Given the description of an element on the screen output the (x, y) to click on. 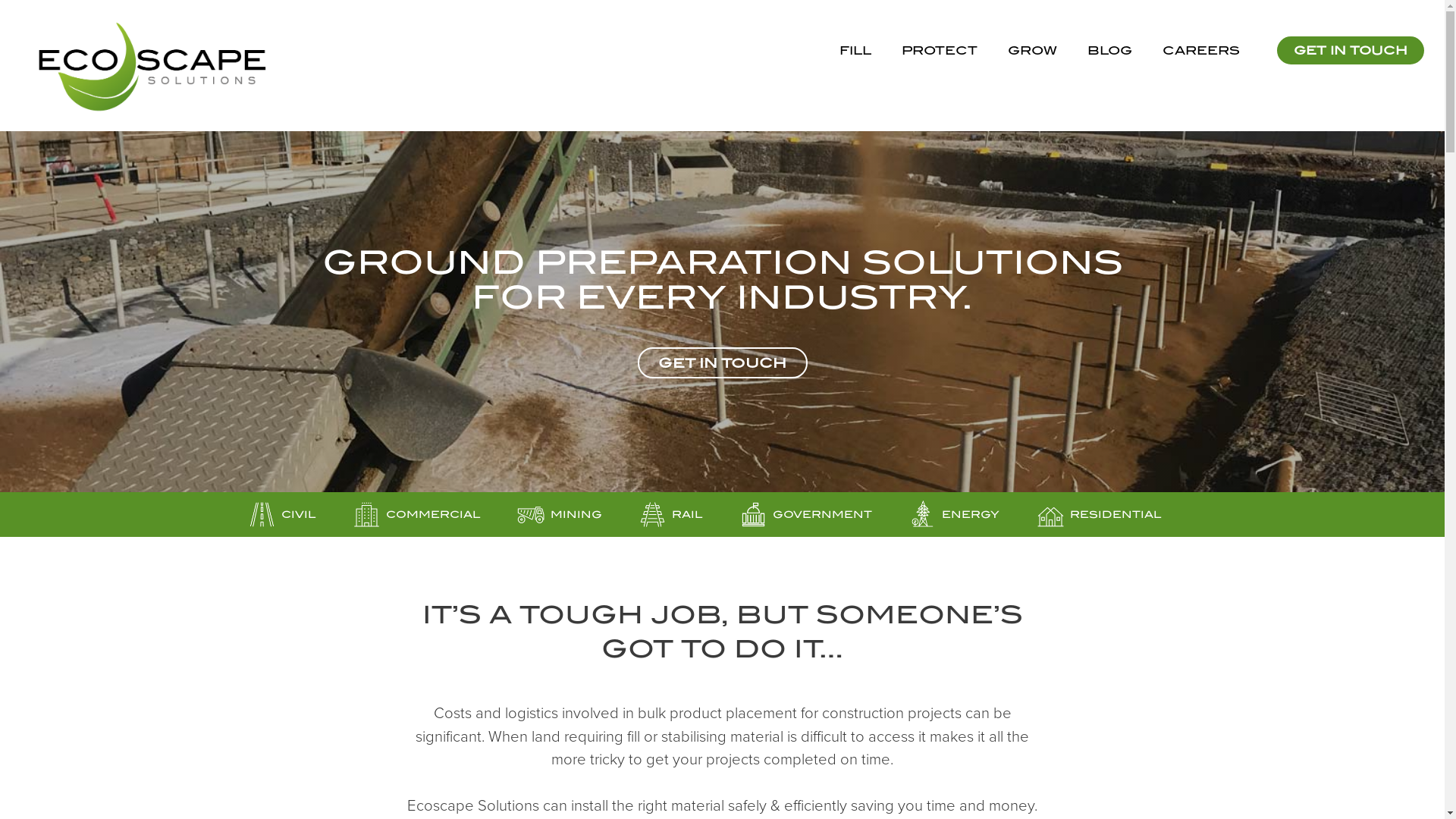
FILL Element type: text (855, 50)
GROW Element type: text (1032, 50)
PROTECT Element type: text (939, 50)
GET IN TOUCH Element type: text (1350, 50)
GET IN TOUCH Element type: text (721, 362)
CAREERS Element type: text (1201, 50)
BLOG Element type: text (1109, 50)
